Given the description of an element on the screen output the (x, y) to click on. 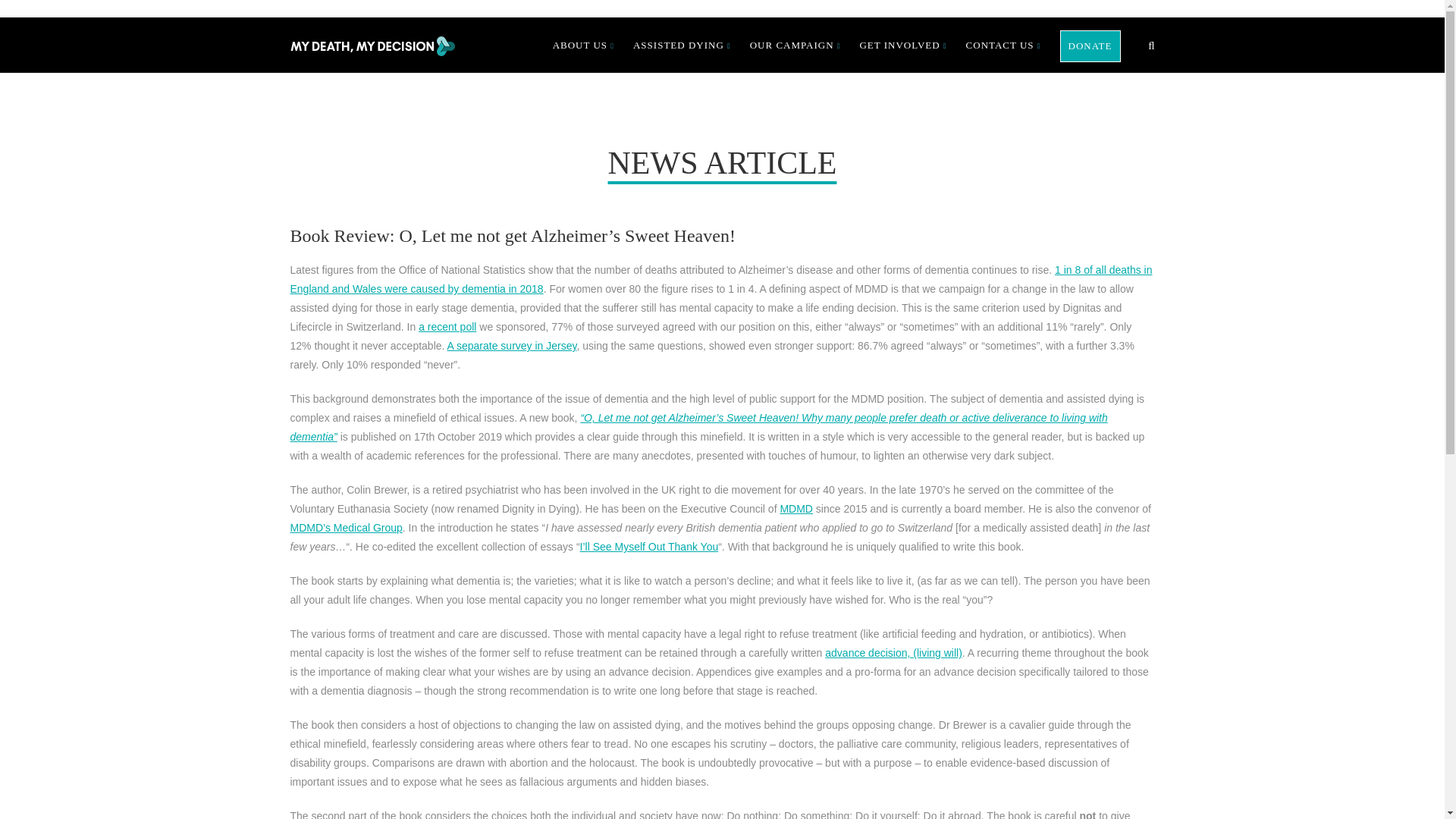
GET INVOLVED (902, 45)
Support Us (1090, 46)
OUR CAMPAIGN (795, 45)
ABOUT US (583, 45)
ASSISTED DYING (681, 45)
